Given the description of an element on the screen output the (x, y) to click on. 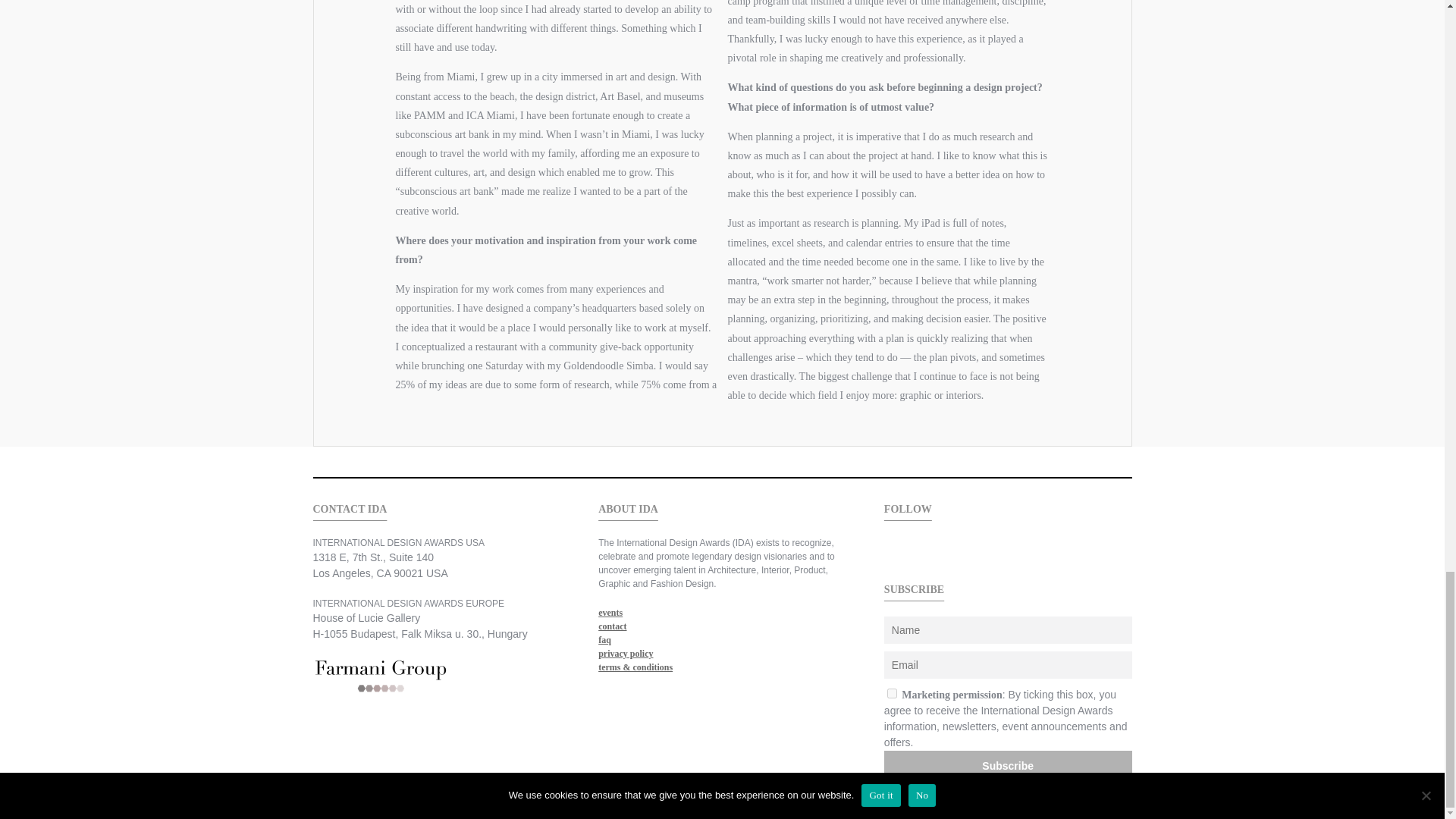
CONTACT IDA (436, 508)
ABOUT IDA (721, 508)
FG-Logo-2018 (380, 675)
on (891, 693)
